Given the description of an element on the screen output the (x, y) to click on. 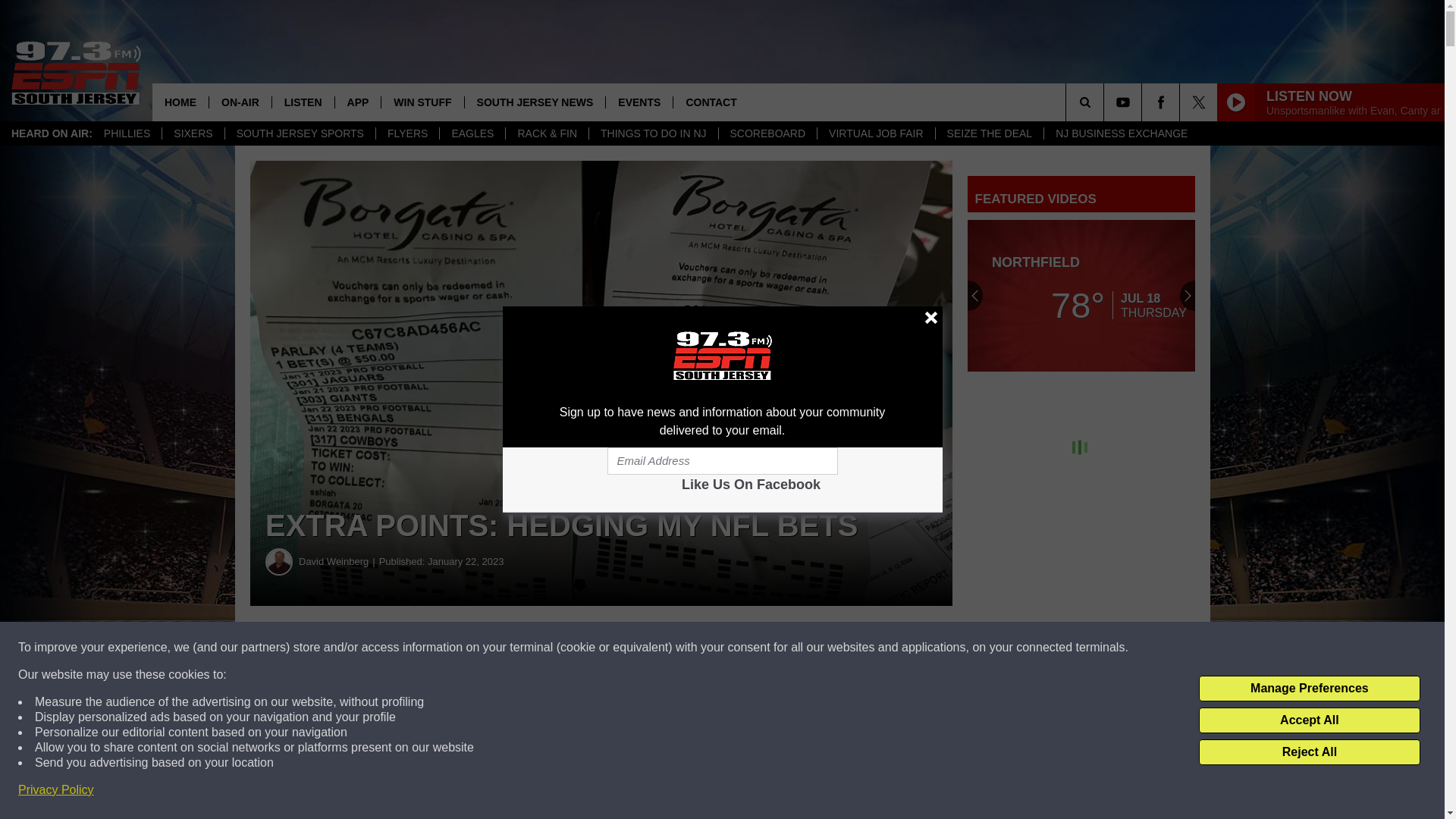
Manage Preferences (1309, 688)
Accept All (1309, 720)
FLYERS (407, 133)
Share on Facebook (460, 647)
Northfield Weather (1081, 295)
Share on Twitter (741, 647)
Reject All (1309, 751)
THINGS TO DO IN NJ (652, 133)
NJ BUSINESS EXCHANGE (1120, 133)
SOUTH JERSEY SPORTS (299, 133)
APP (357, 102)
SIXERS (192, 133)
PHILLIES (127, 133)
VIRTUAL JOB FAIR (875, 133)
ON-AIR (239, 102)
